Given the description of an element on the screen output the (x, y) to click on. 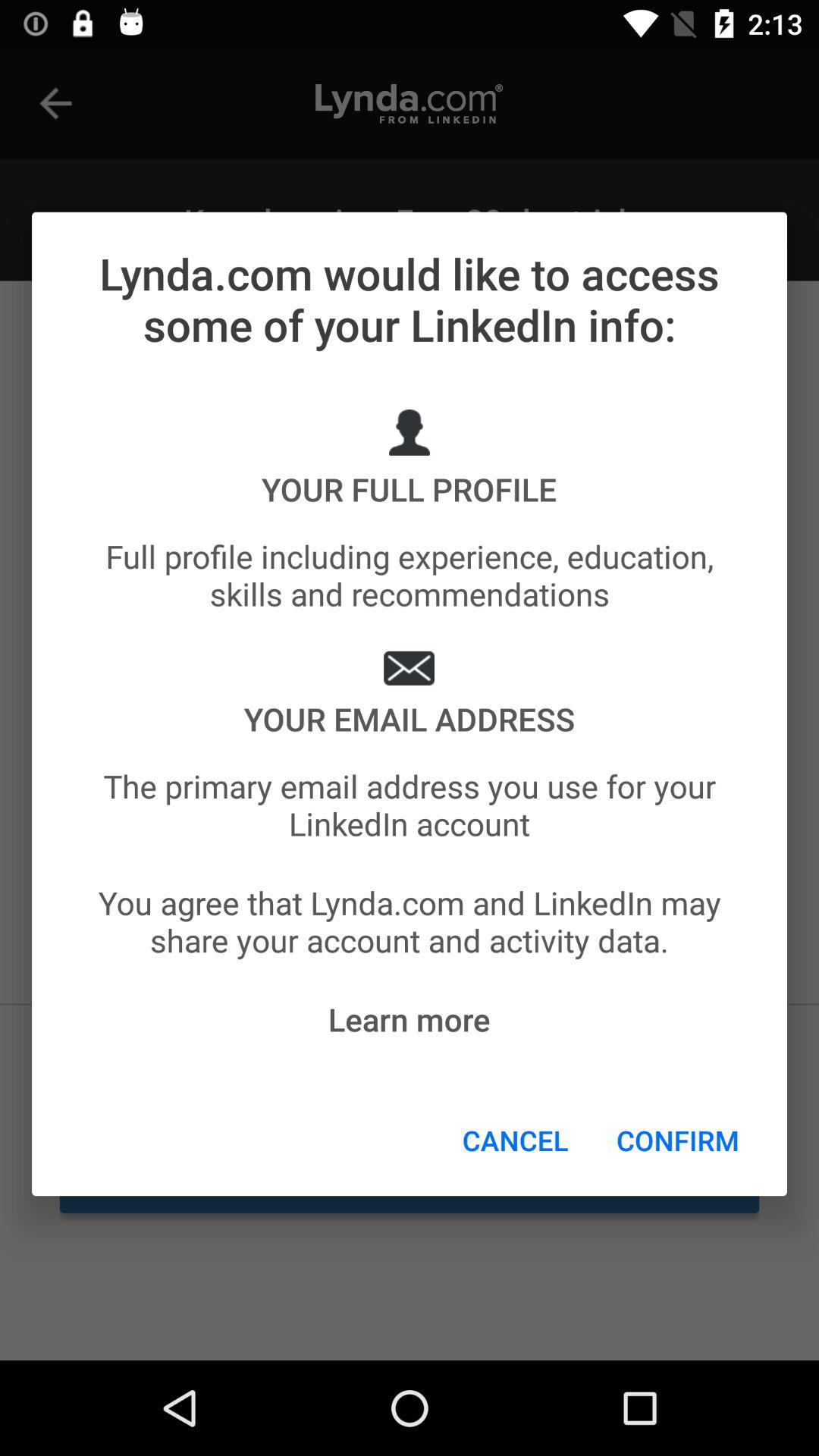
open the icon to the left of the confirm (515, 1140)
